Given the description of an element on the screen output the (x, y) to click on. 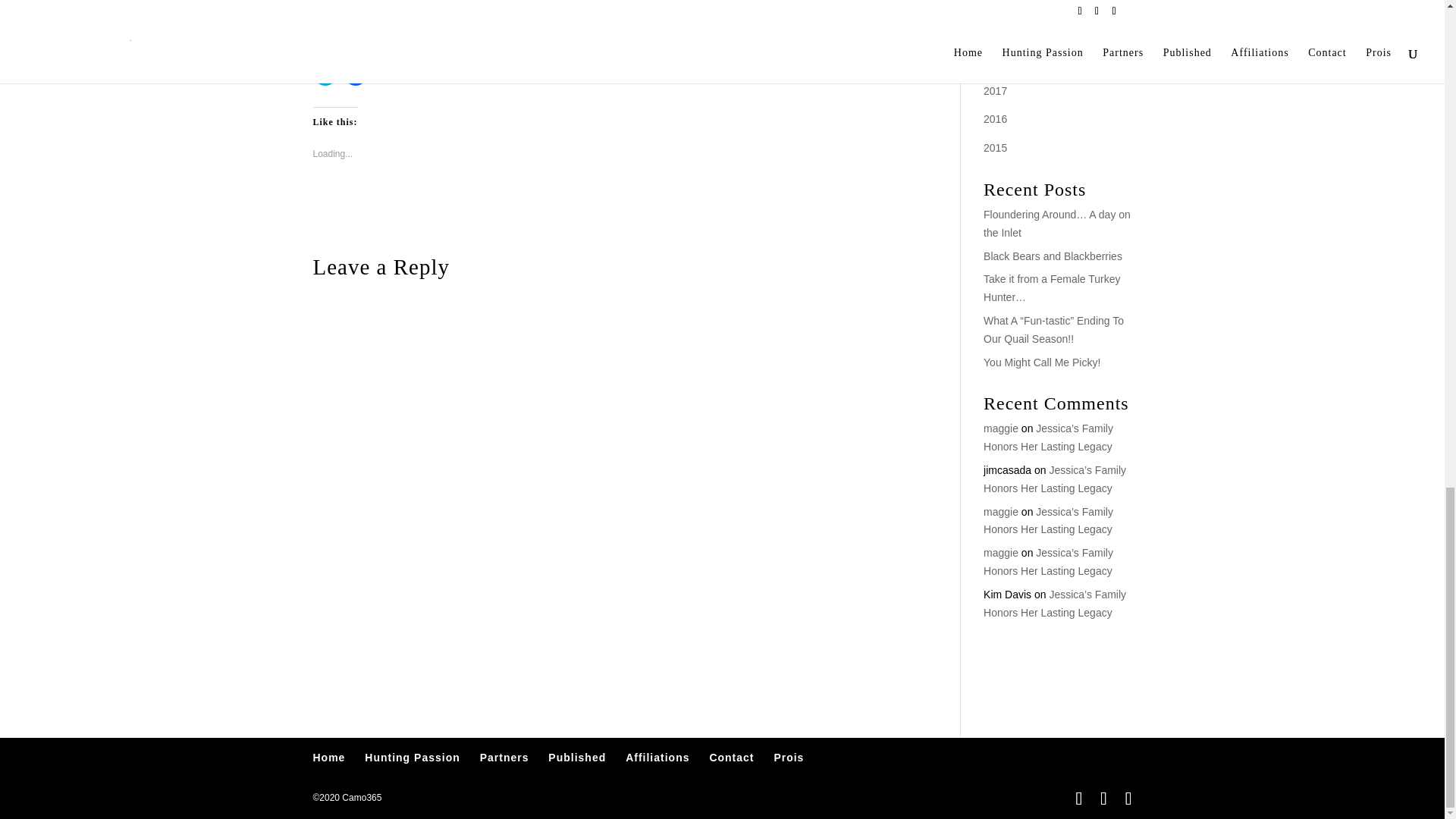
Click to share on Facebook (354, 73)
Click to share on Twitter (324, 73)
